Given the description of an element on the screen output the (x, y) to click on. 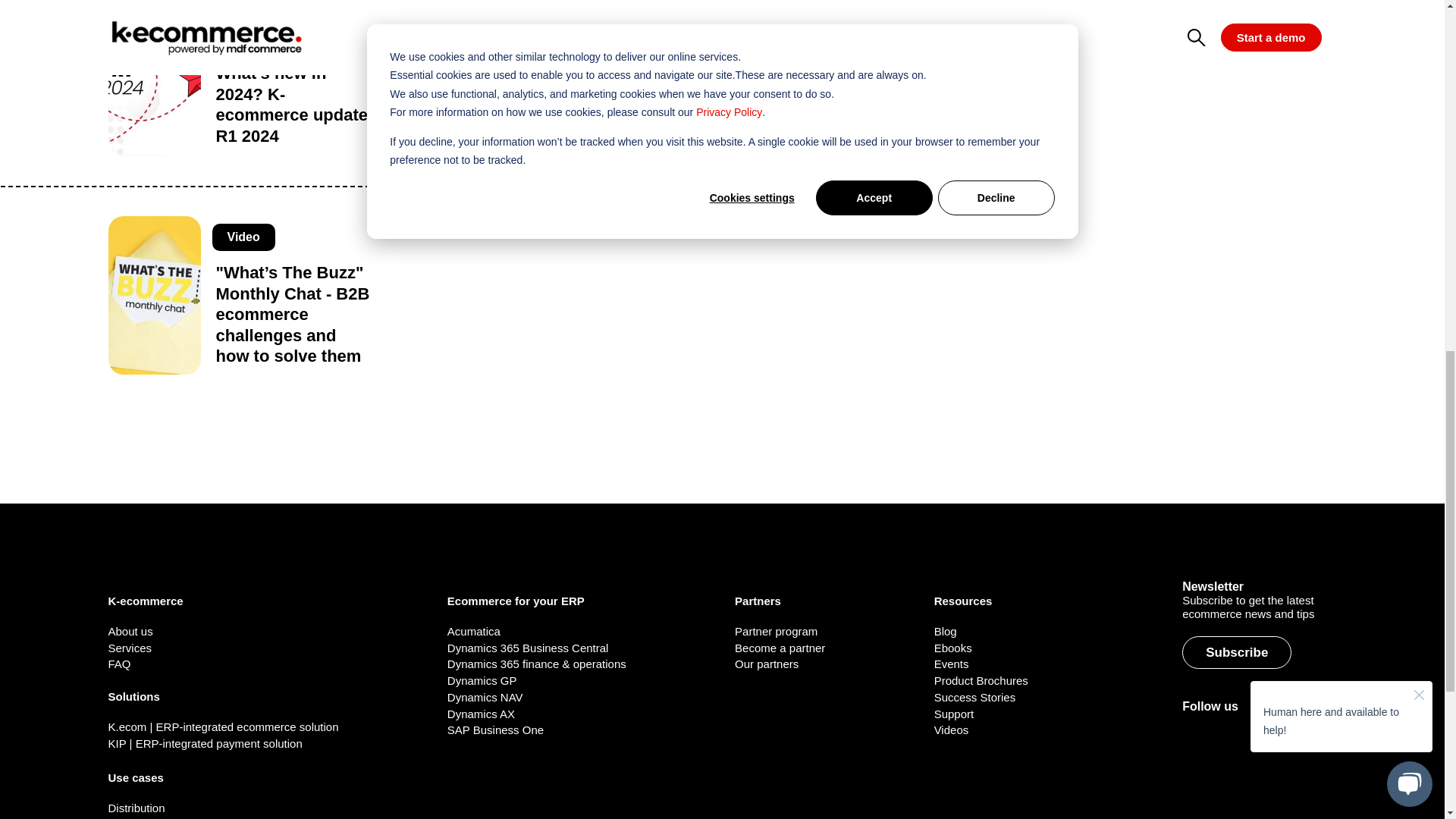
Submit (937, 22)
